Given the description of an element on the screen output the (x, y) to click on. 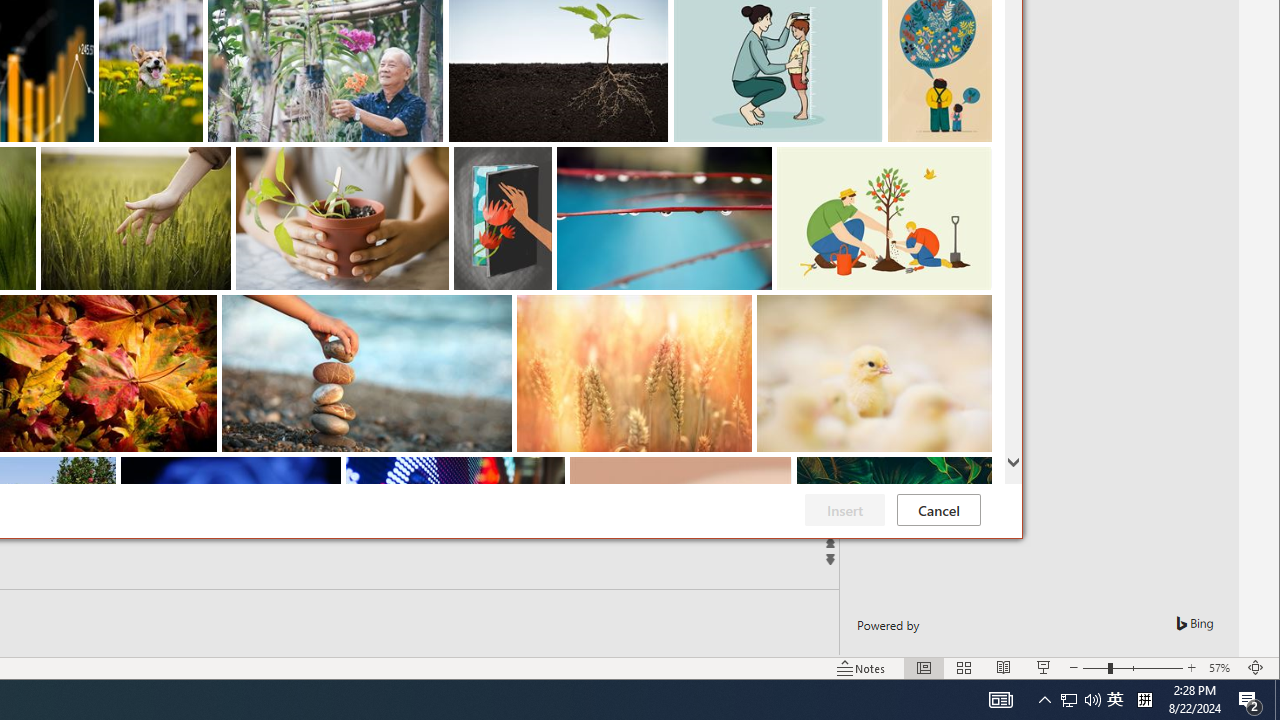
Show desktop (1277, 699)
Notification Chevron (1044, 699)
Zoom 57% (1115, 699)
Zoom (1222, 668)
Cancel (1132, 668)
Action Center, 2 new notifications (938, 509)
Slide Sorter (1250, 699)
Thumbnail (964, 668)
